Given the description of an element on the screen output the (x, y) to click on. 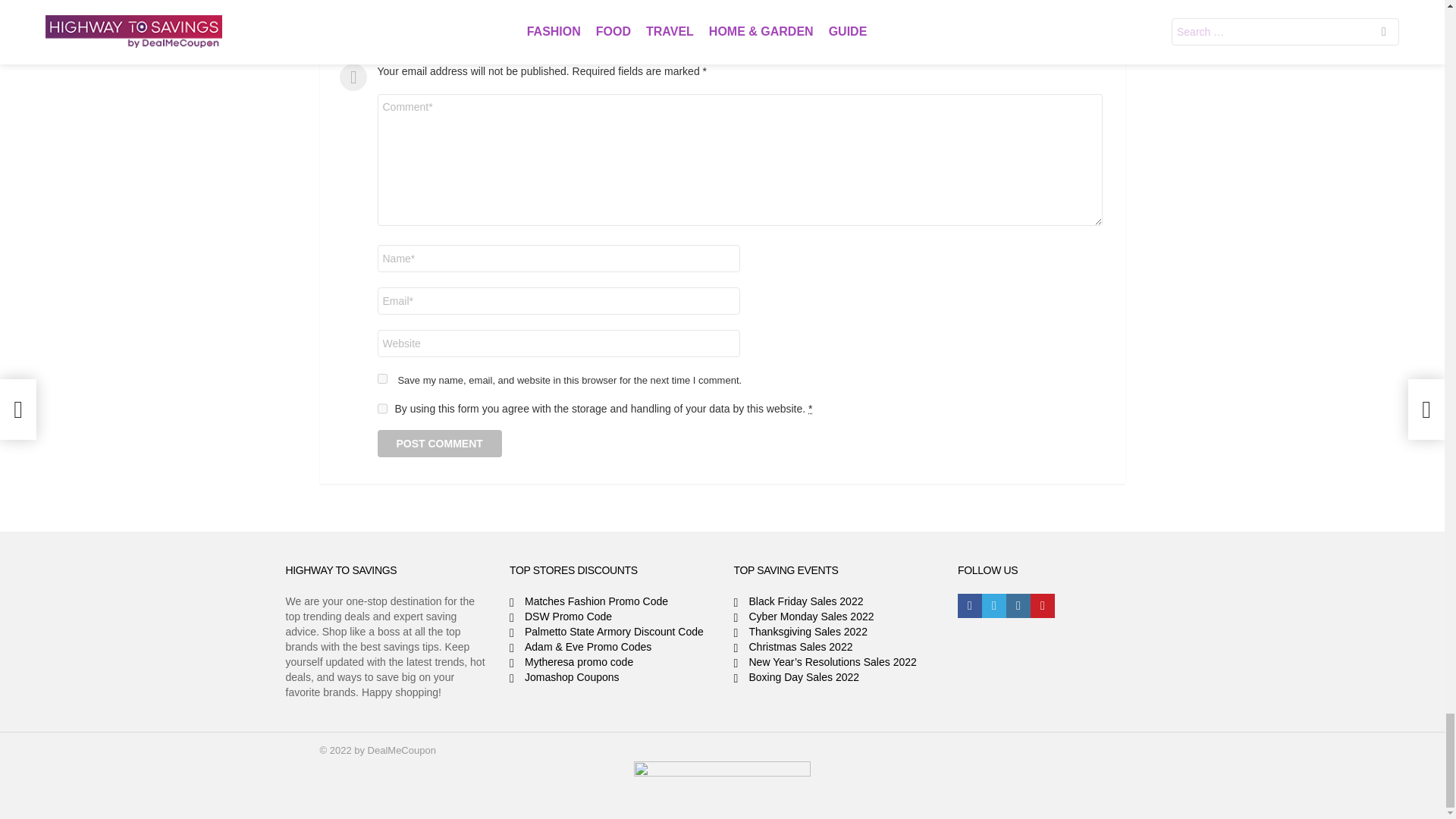
Post Comment (439, 443)
yes (382, 378)
You need to accept this checkbox (810, 408)
1 (382, 408)
